Given the description of an element on the screen output the (x, y) to click on. 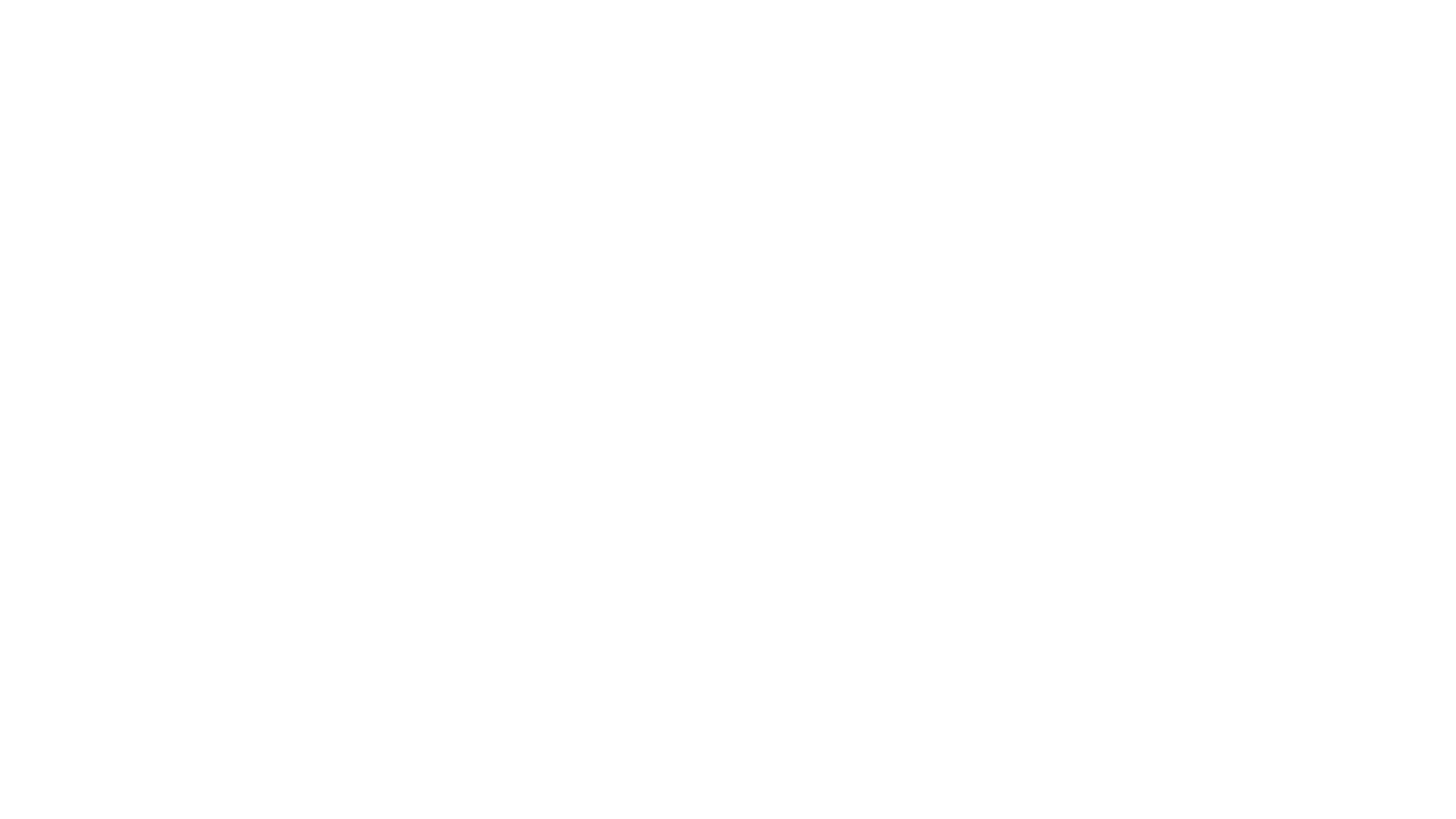
Cloudflare Element type: text (798, 799)
